Given the description of an element on the screen output the (x, y) to click on. 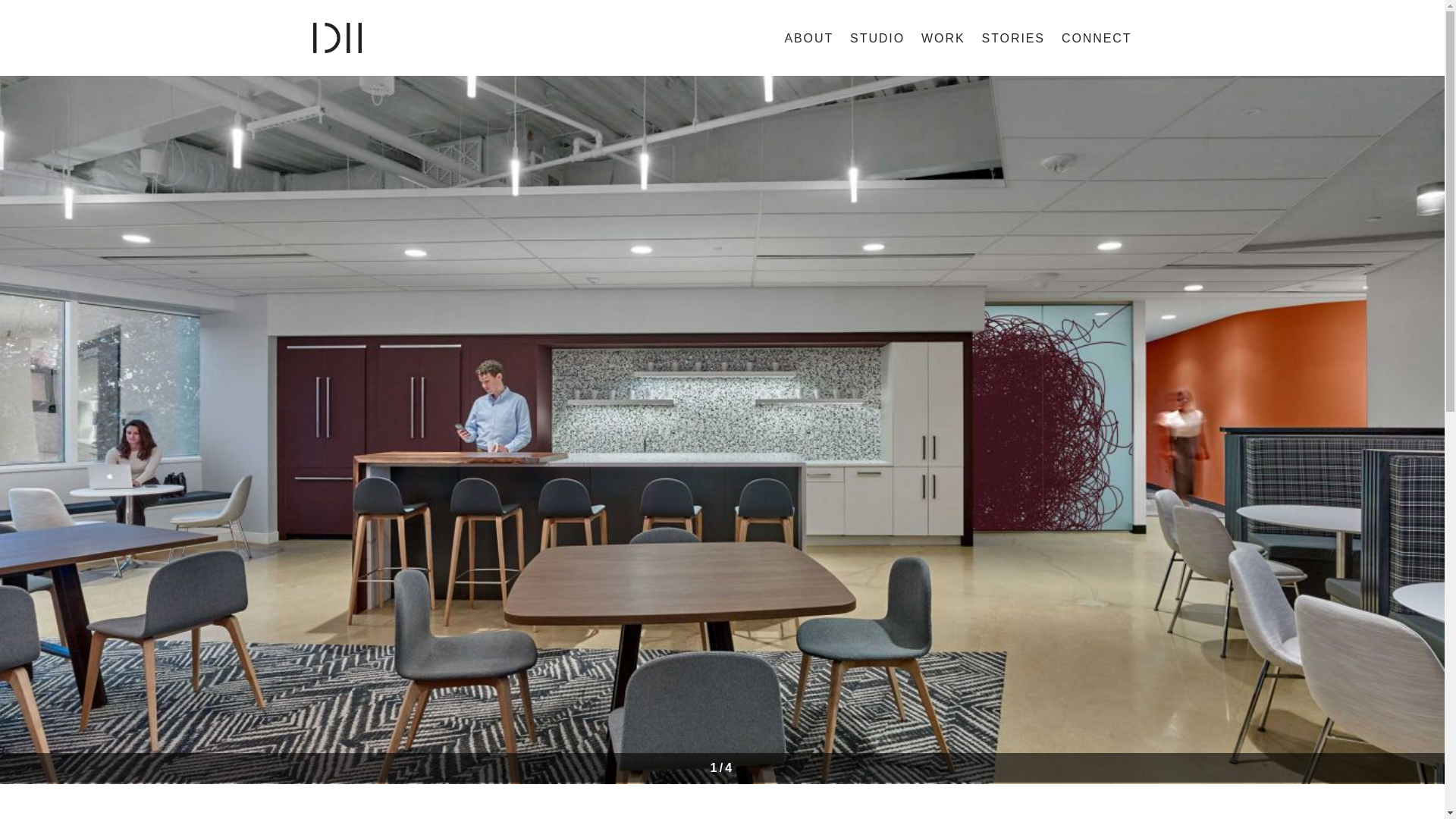
STORIES (1013, 38)
ABOUT (808, 38)
STUDIO (877, 38)
CONNECT (1096, 38)
WORK (942, 38)
